Given the description of an element on the screen output the (x, y) to click on. 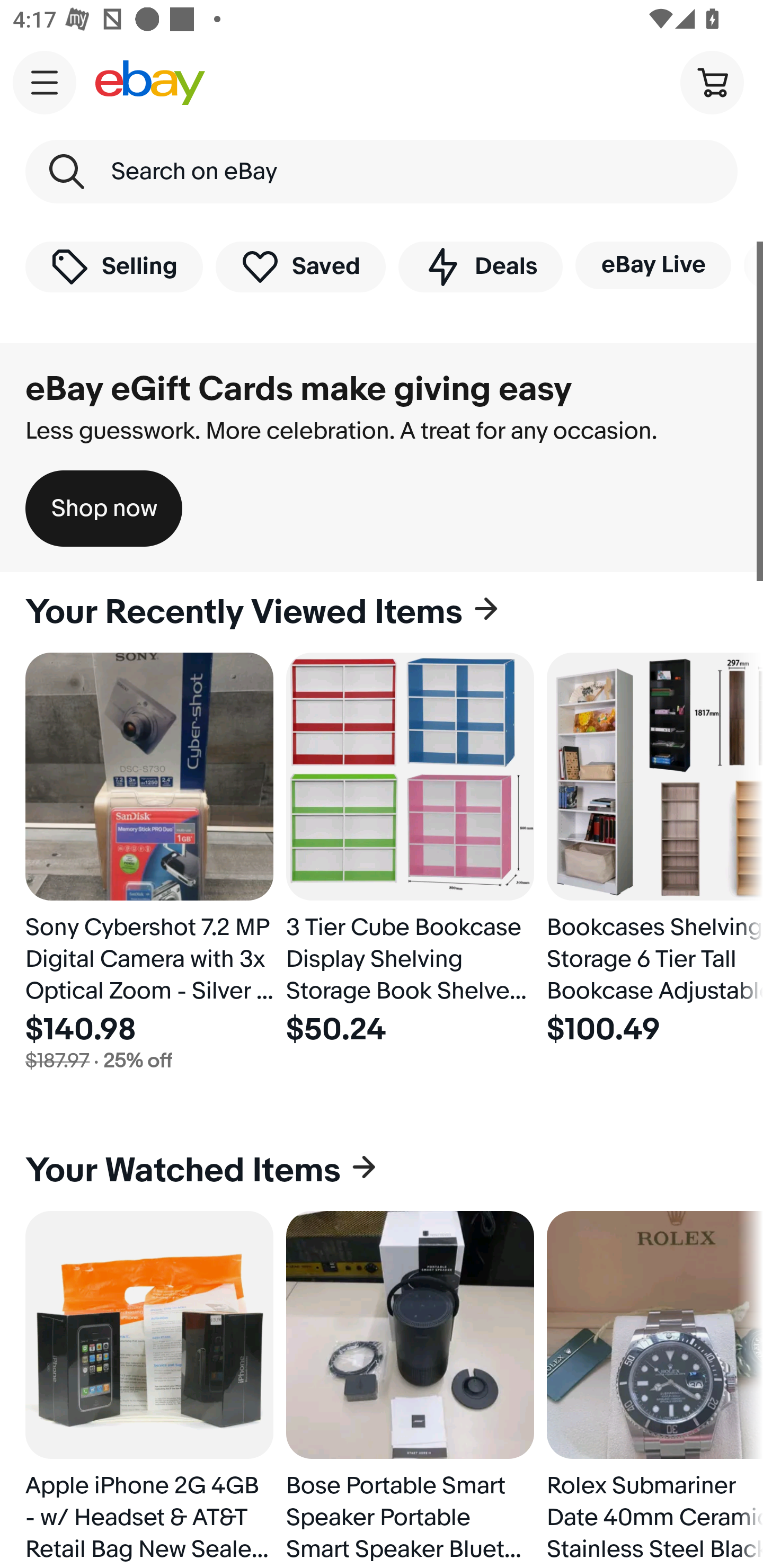
Main navigation, open (44, 82)
Cart button shopping cart (711, 81)
Search on eBay Search Keyword Search on eBay (381, 171)
Selling (113, 266)
Saved (300, 266)
Deals (480, 266)
eBay Live (652, 264)
eBay eGift Cards make giving easy (298, 389)
Shop now (103, 508)
Your Recently Viewed Items   (381, 612)
Your Watched Items   (381, 1170)
